Given the description of an element on the screen output the (x, y) to click on. 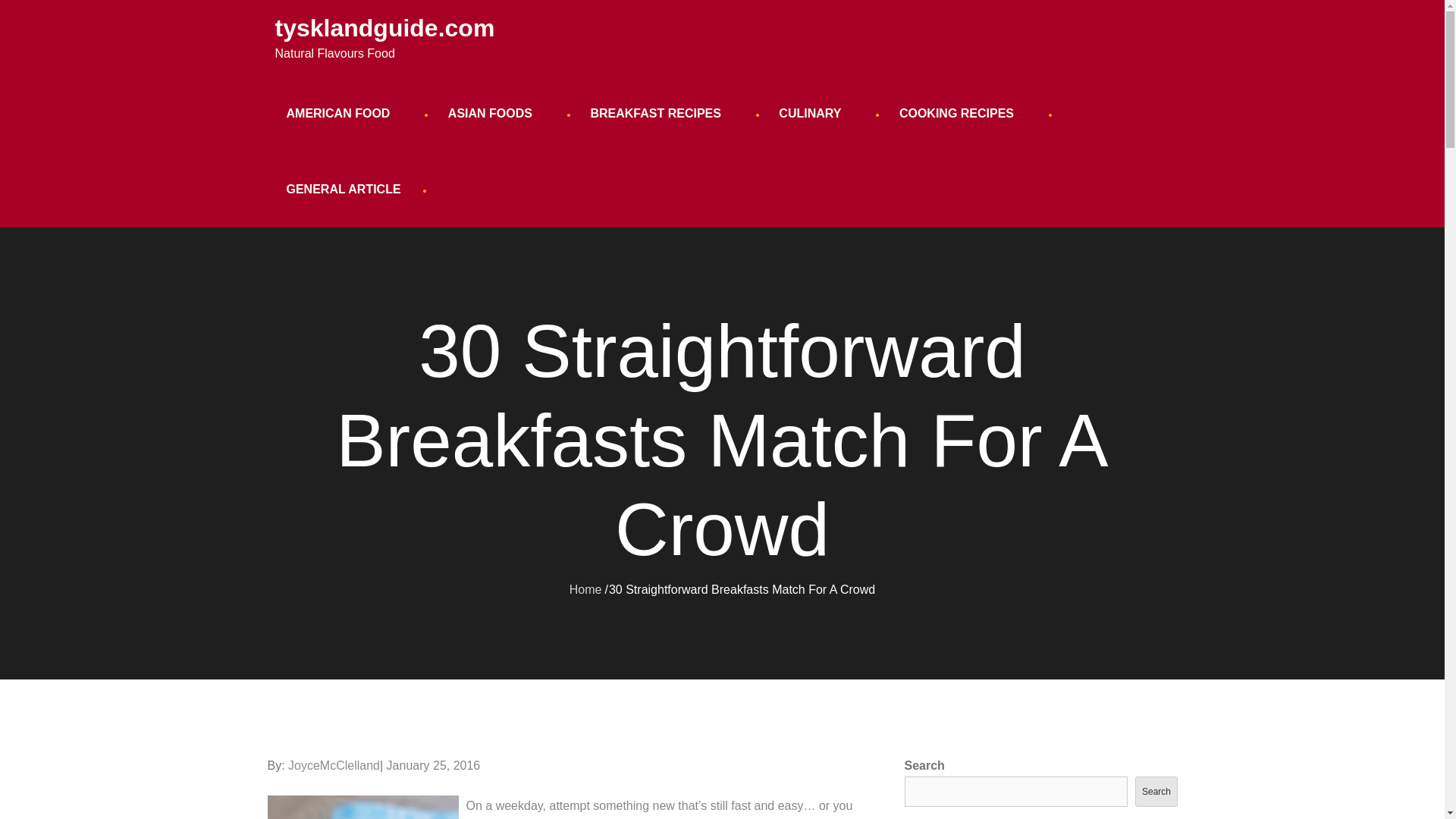
CULINARY (815, 113)
AMERICAN FOOD (344, 113)
January 25, 2016 (433, 765)
BREAKFAST RECIPES (661, 113)
COOKING RECIPES (963, 113)
JoyceMcClelland (334, 765)
Home (585, 588)
GENERAL ARTICLE (343, 189)
tysklandguide.com (385, 27)
ASIAN FOODS (496, 113)
